Given the description of an element on the screen output the (x, y) to click on. 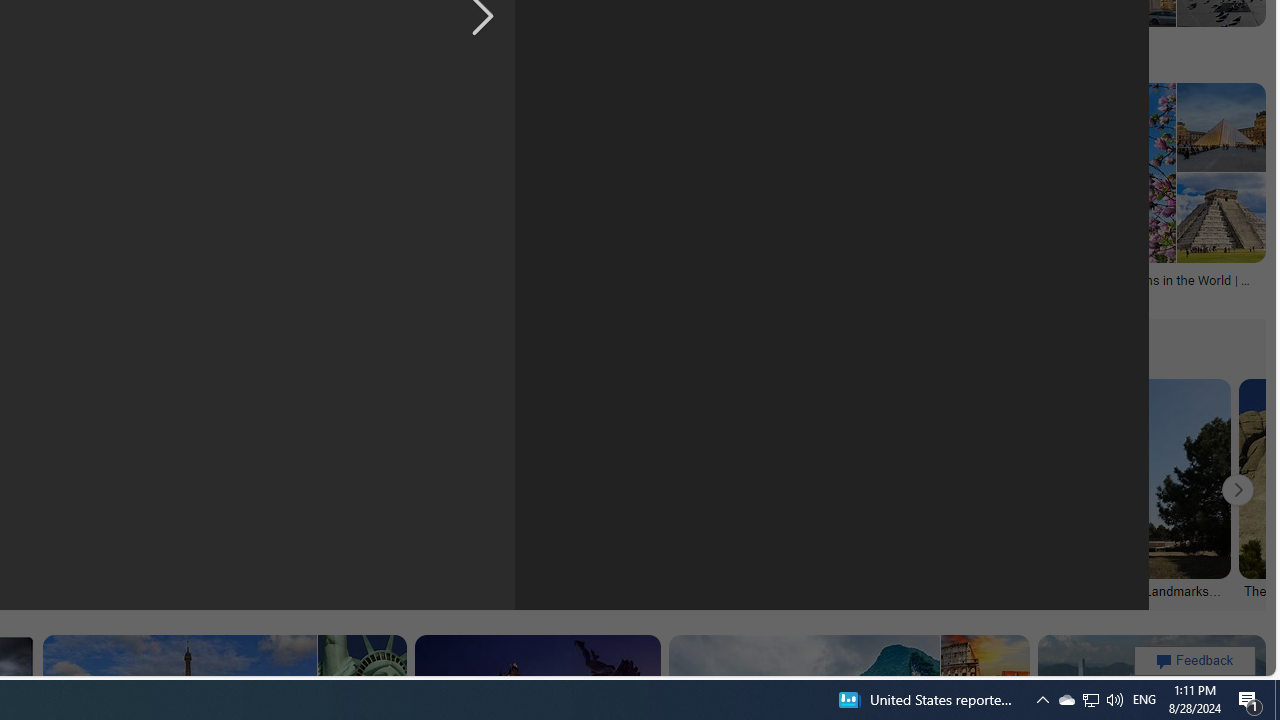
100 Most Famous Landmarks Around the World | RAX BOOK (161, 589)
Top 10 World Famous Attractions of Dubai (274, 286)
Image result for World tourist attraction (1221, 217)
Famous Tourist Spot In France (1031, 44)
travelingcanucks.com (758, 57)
businessinsider.com (510, 58)
Feedback (1194, 660)
